Given the description of an element on the screen output the (x, y) to click on. 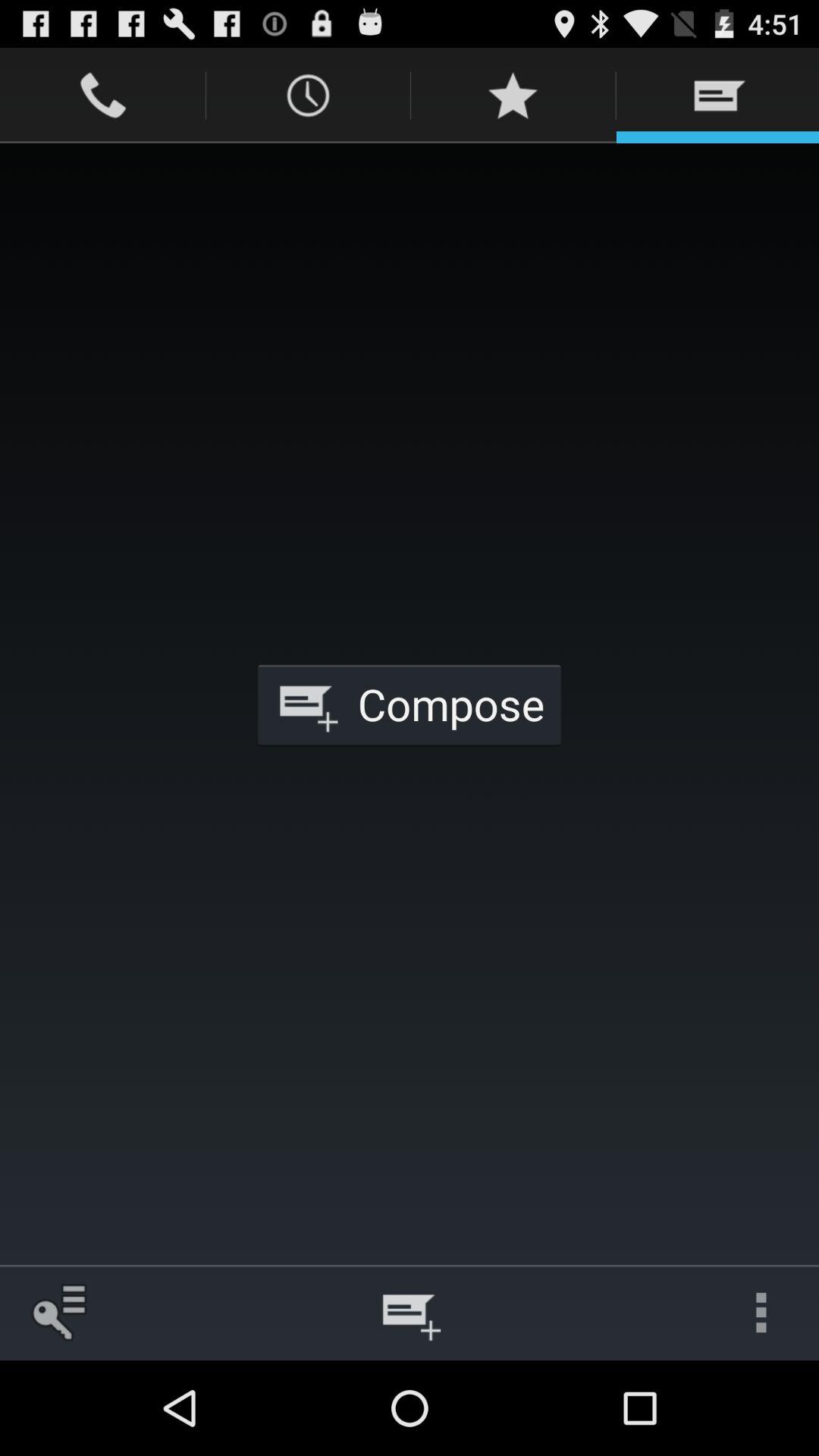
select item at the bottom left corner (58, 1312)
